Given the description of an element on the screen output the (x, y) to click on. 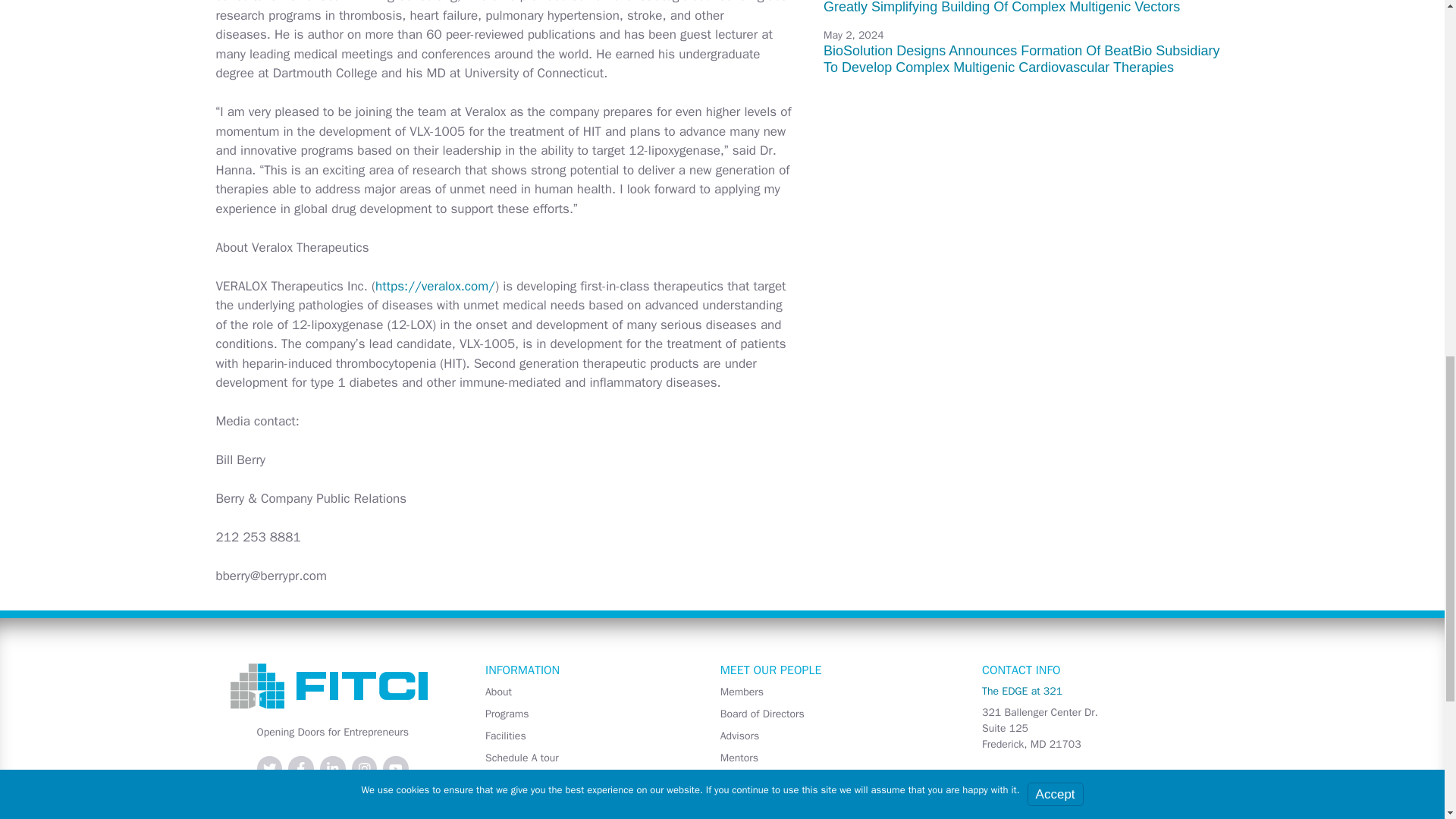
Privacy Policy (583, 815)
About (583, 691)
Schedule A tour (583, 757)
donate-logo-button (375, 806)
Apply (583, 779)
gximage2 (253, 806)
Facilities (583, 735)
INFORMATION (521, 670)
Programs (583, 713)
fitci-logo (332, 686)
Annual reports (583, 802)
